Given the description of an element on the screen output the (x, y) to click on. 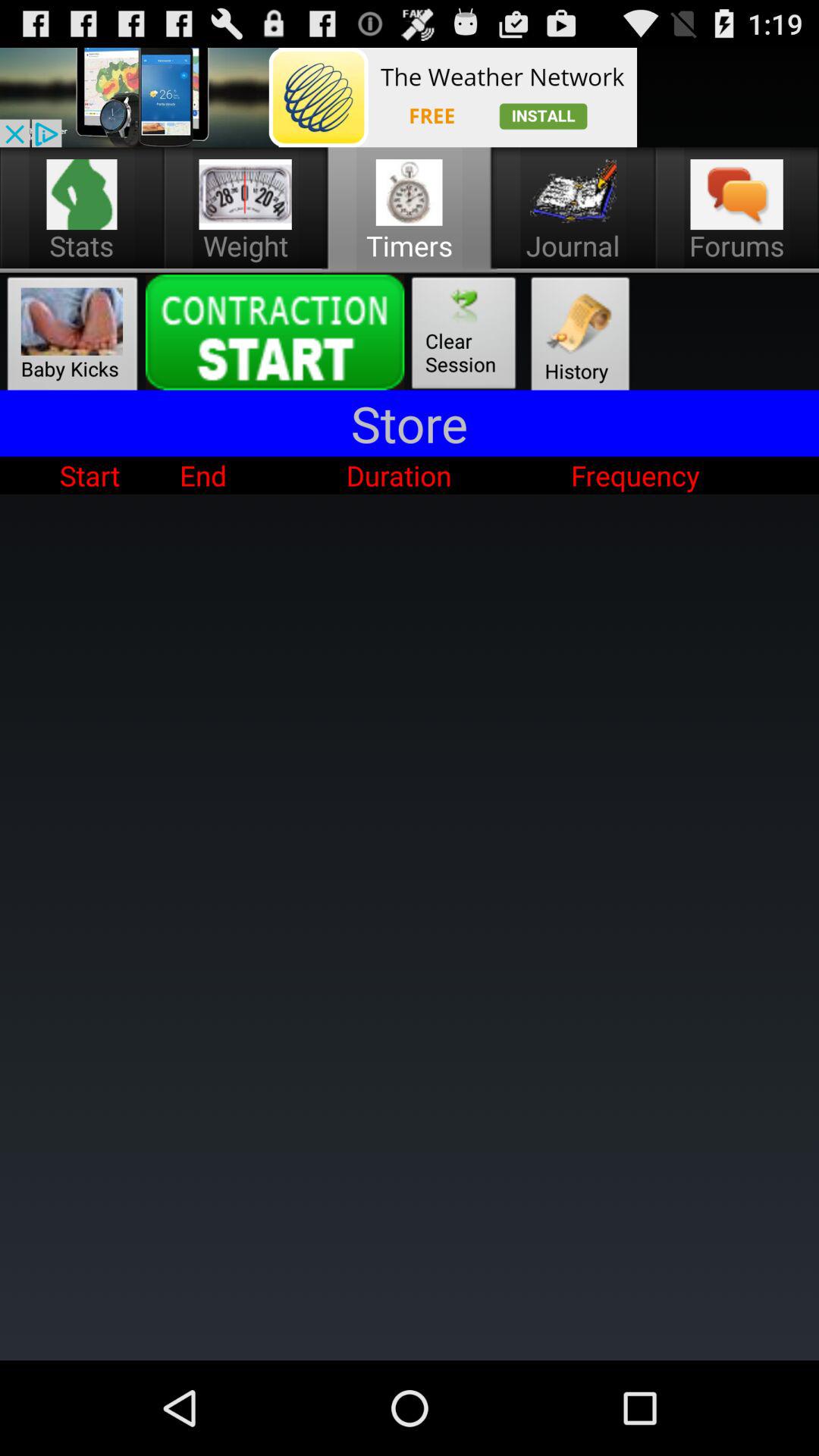
click the start contraction button (274, 332)
